Given the description of an element on the screen output the (x, y) to click on. 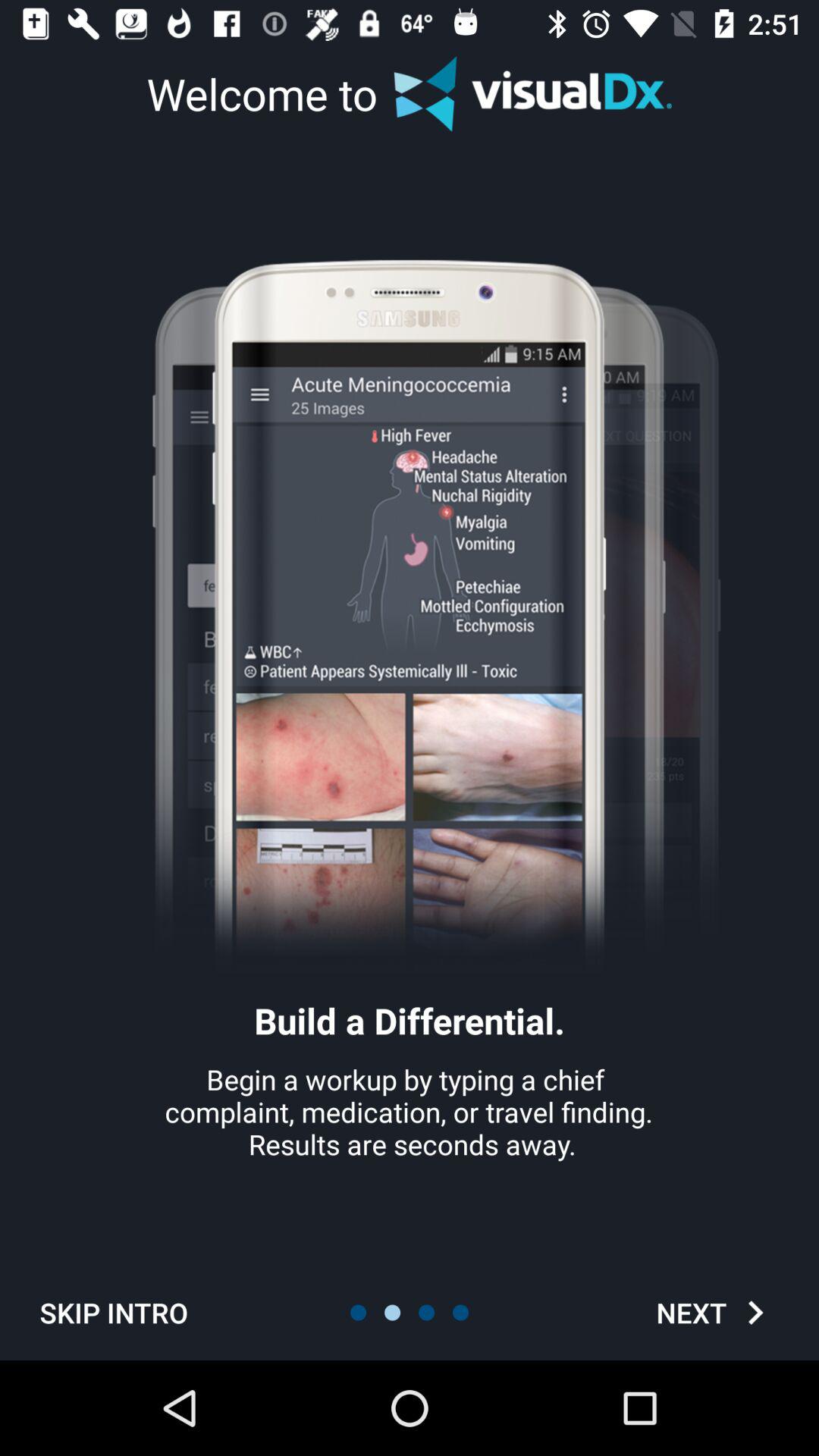
choose icon below begin a workup icon (113, 1312)
